Given the description of an element on the screen output the (x, y) to click on. 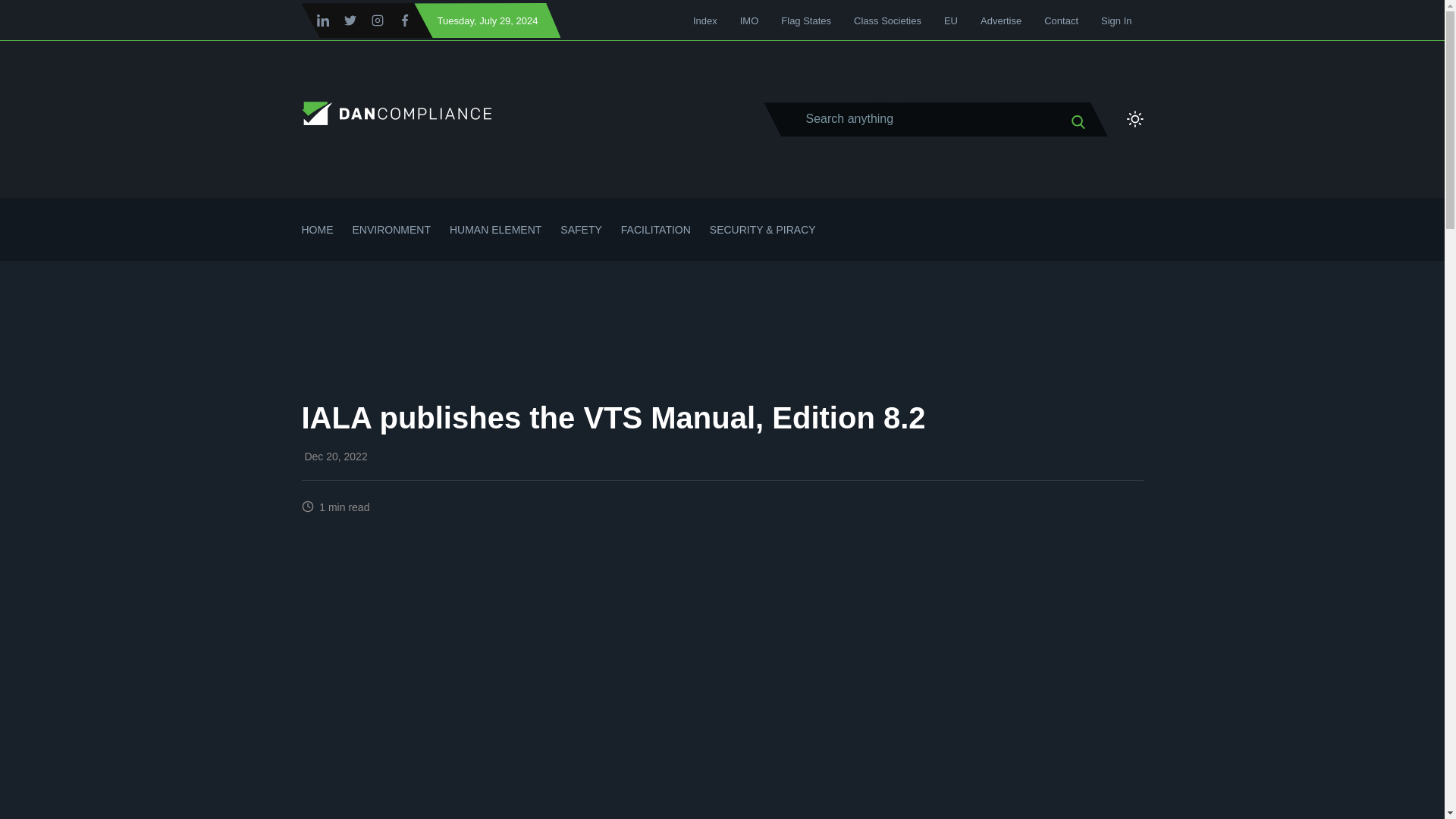
ENVIRONMENT (390, 241)
Class Societies (887, 20)
IMO (748, 20)
HUMAN ELEMENT (495, 241)
EU (950, 20)
Advertise (1000, 20)
Flag States (805, 20)
FACILITATION (655, 241)
SAFETY (580, 241)
Contact (1060, 20)
Sign In (1115, 20)
Index (705, 20)
